Given the description of an element on the screen output the (x, y) to click on. 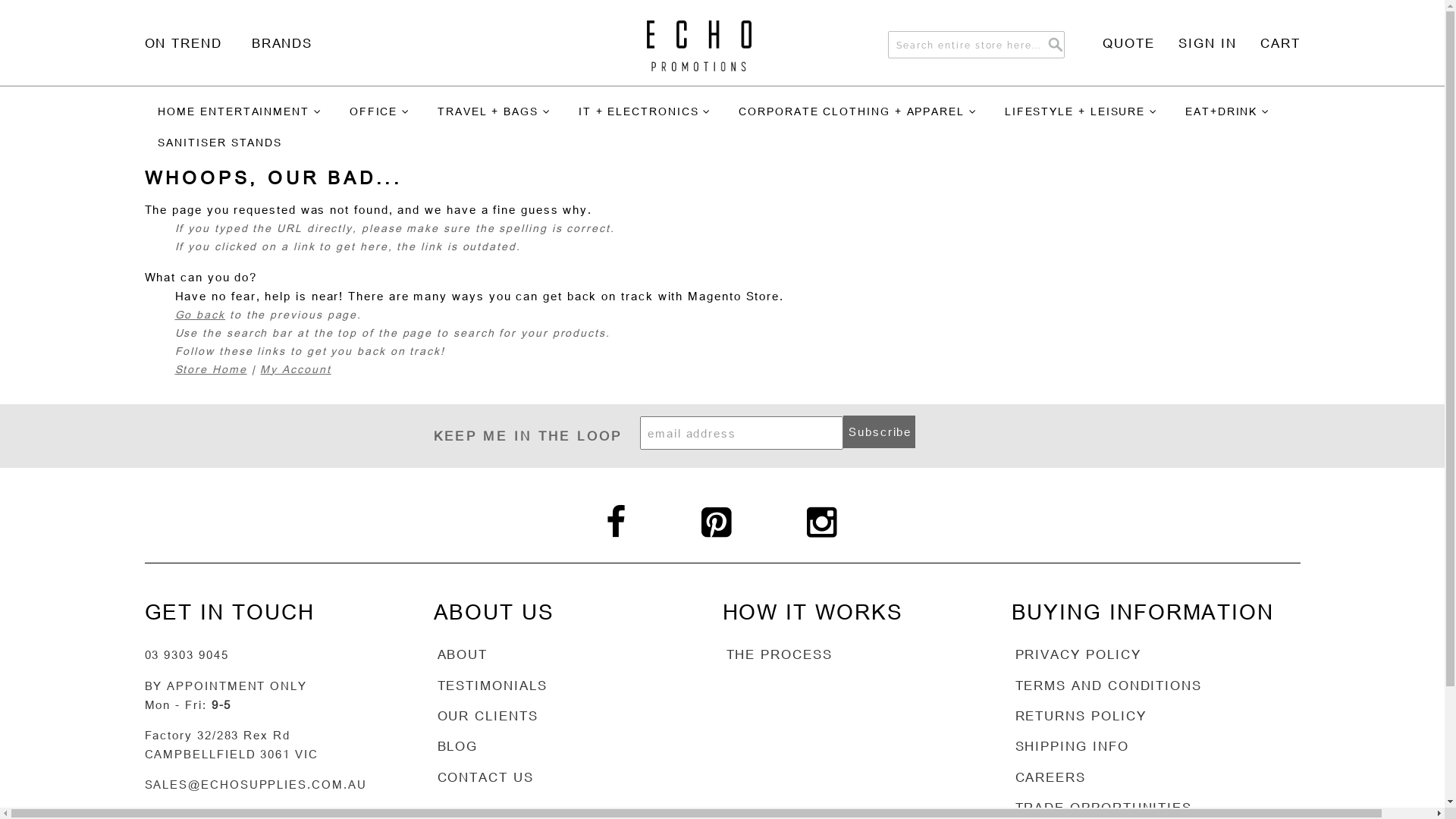
Go back Element type: text (199, 314)
LIFESTYLE + LEISURE Element type: text (1080, 112)
SANITISER STANDS Element type: text (219, 143)
BLOG Element type: text (457, 745)
TESTIMONIALS Element type: text (492, 684)
TERMS AND CONDITIONS Element type: text (1108, 684)
BRANDS Element type: text (285, 43)
CART Element type: text (1268, 42)
Subscribe Element type: text (879, 431)
QUOTE Element type: text (1116, 42)
ABOUT Element type: text (462, 653)
HOME ENTERTAINMENT Element type: text (239, 112)
CONTACT US Element type: text (485, 776)
CORPORATE CLOTHING + APPAREL Element type: text (857, 112)
Store Home Element type: text (210, 368)
OUR CLIENTS Element type: text (487, 715)
OFFICE Element type: text (379, 112)
THE PROCESS Element type: text (778, 653)
SALES@ECHOSUPPLIES.COM.AU Element type: text (255, 783)
PRIVACY POLICY Element type: text (1078, 653)
EAT+DRINK Element type: text (1228, 112)
IT + ELECTRONICS Element type: text (644, 112)
SHIPPING INFO Element type: text (1071, 745)
03 9303 9045 Element type: text (186, 654)
CAREERS Element type: text (1050, 776)
SIGN IN Element type: text (1195, 42)
TRAVEL + BAGS Element type: text (494, 112)
ON TREND Element type: text (186, 43)
My Account Element type: text (295, 368)
RETURNS POLICY Element type: text (1080, 715)
